Given the description of an element on the screen output the (x, y) to click on. 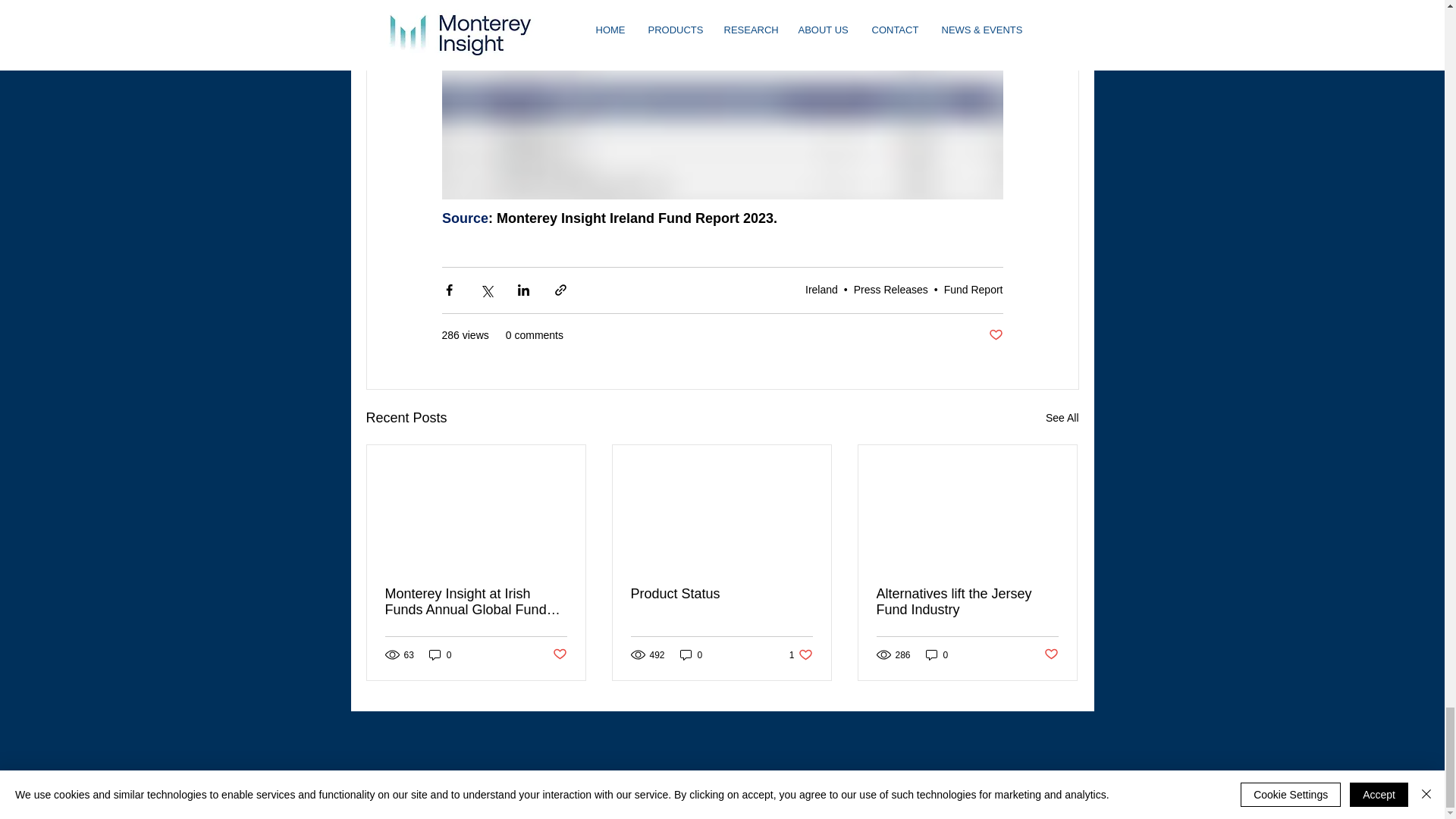
Fund Report (973, 289)
Ireland (821, 289)
Press Releases (800, 654)
0 (890, 289)
0 (440, 654)
Product Status (691, 654)
Post not marked as liked (721, 593)
Post not marked as liked (558, 654)
